Given the description of an element on the screen output the (x, y) to click on. 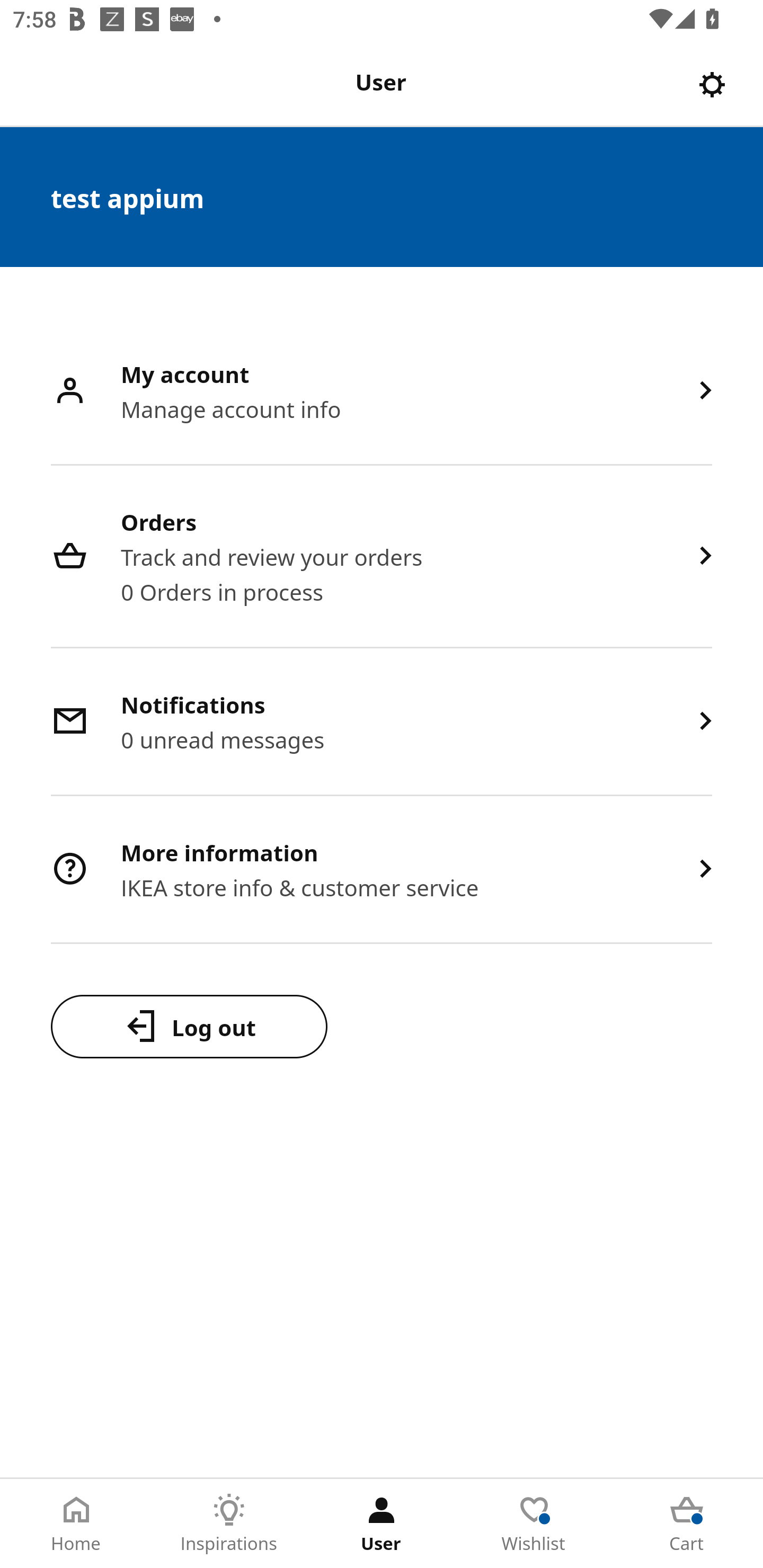
My account
Manage account info (381, 391)
Notifications
0 unread messages (381, 722)
Log out (189, 1026)
Home
Tab 1 of 5 (76, 1522)
Inspirations
Tab 2 of 5 (228, 1522)
User
Tab 3 of 5 (381, 1522)
Wishlist
Tab 4 of 5 (533, 1522)
Cart
Tab 5 of 5 (686, 1522)
